Given the description of an element on the screen output the (x, y) to click on. 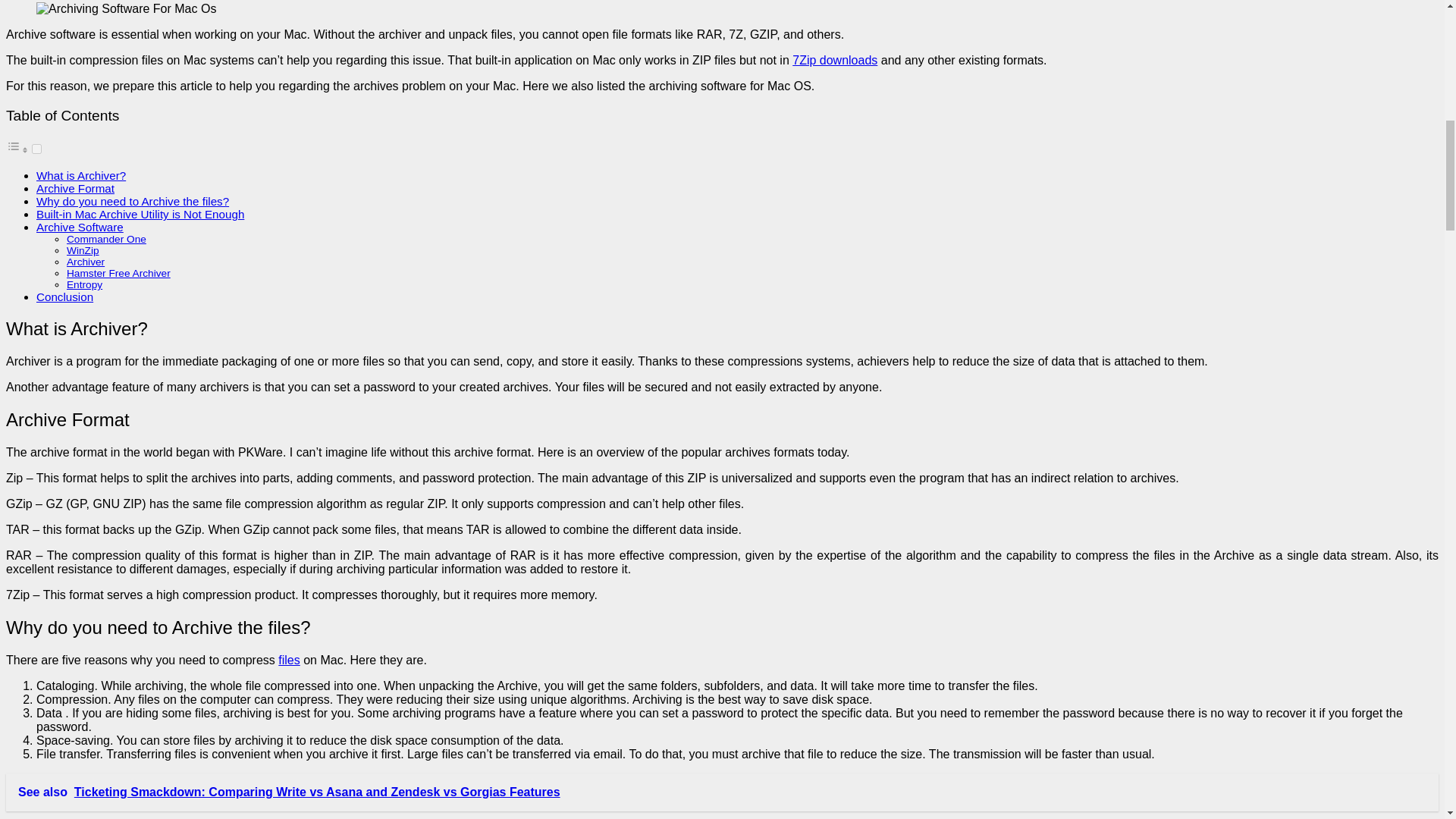
Built-in Mac Archive Utility is Not Enough (140, 214)
Hamster Free Archiver (118, 273)
Why do you need to Archive the files? (132, 201)
Commander One (106, 238)
Archiver (85, 261)
Entropy (83, 284)
Archive Format (75, 187)
on (37, 148)
Archive Software (79, 226)
What is Archiver? (80, 174)
WinZip (82, 250)
